Given the description of an element on the screen output the (x, y) to click on. 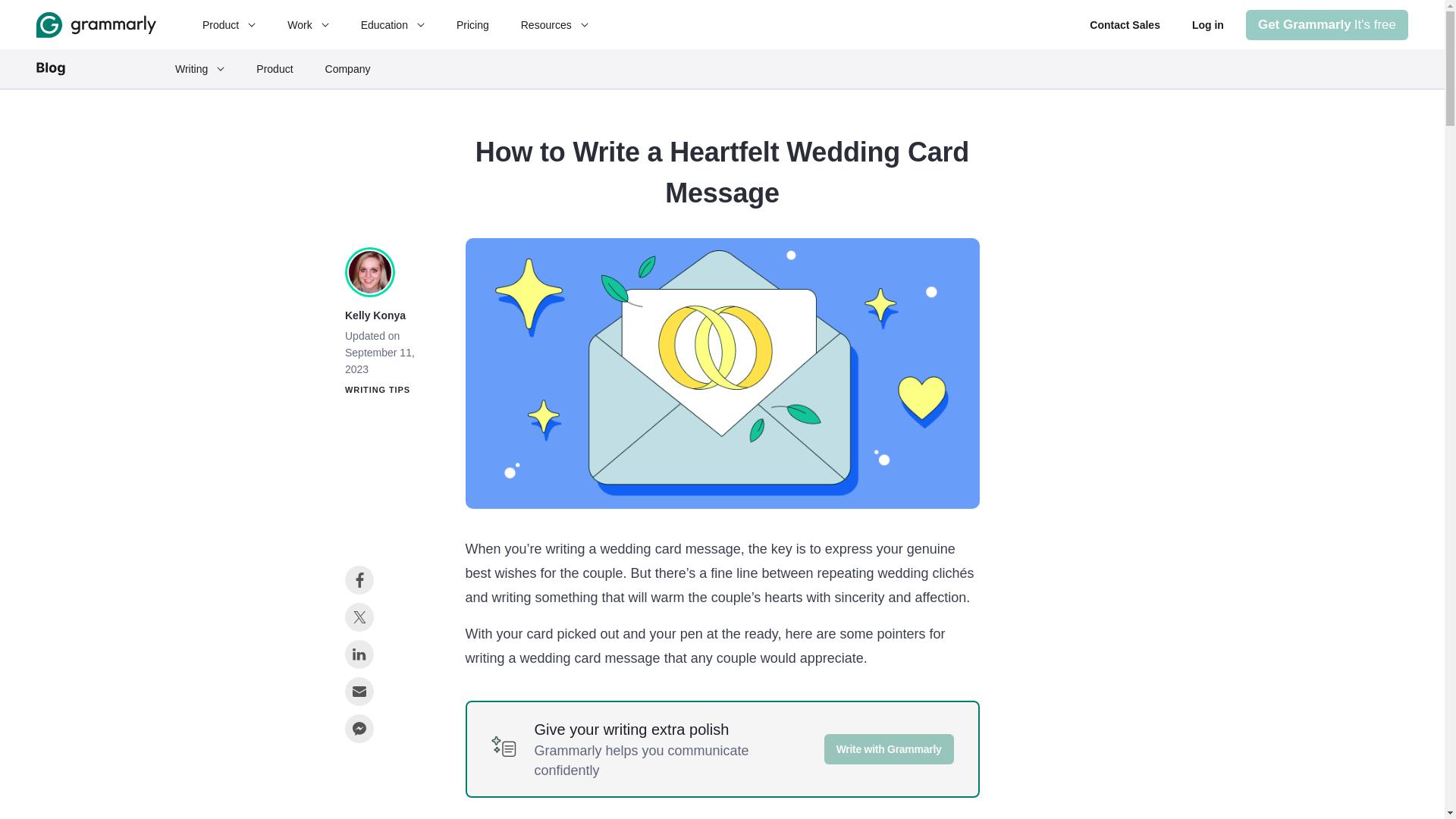
Work (307, 24)
Education (391, 24)
Log in (1207, 24)
Resources (554, 24)
Contact Sales (1125, 24)
Product (1326, 24)
Pricing (228, 24)
